Given the description of an element on the screen output the (x, y) to click on. 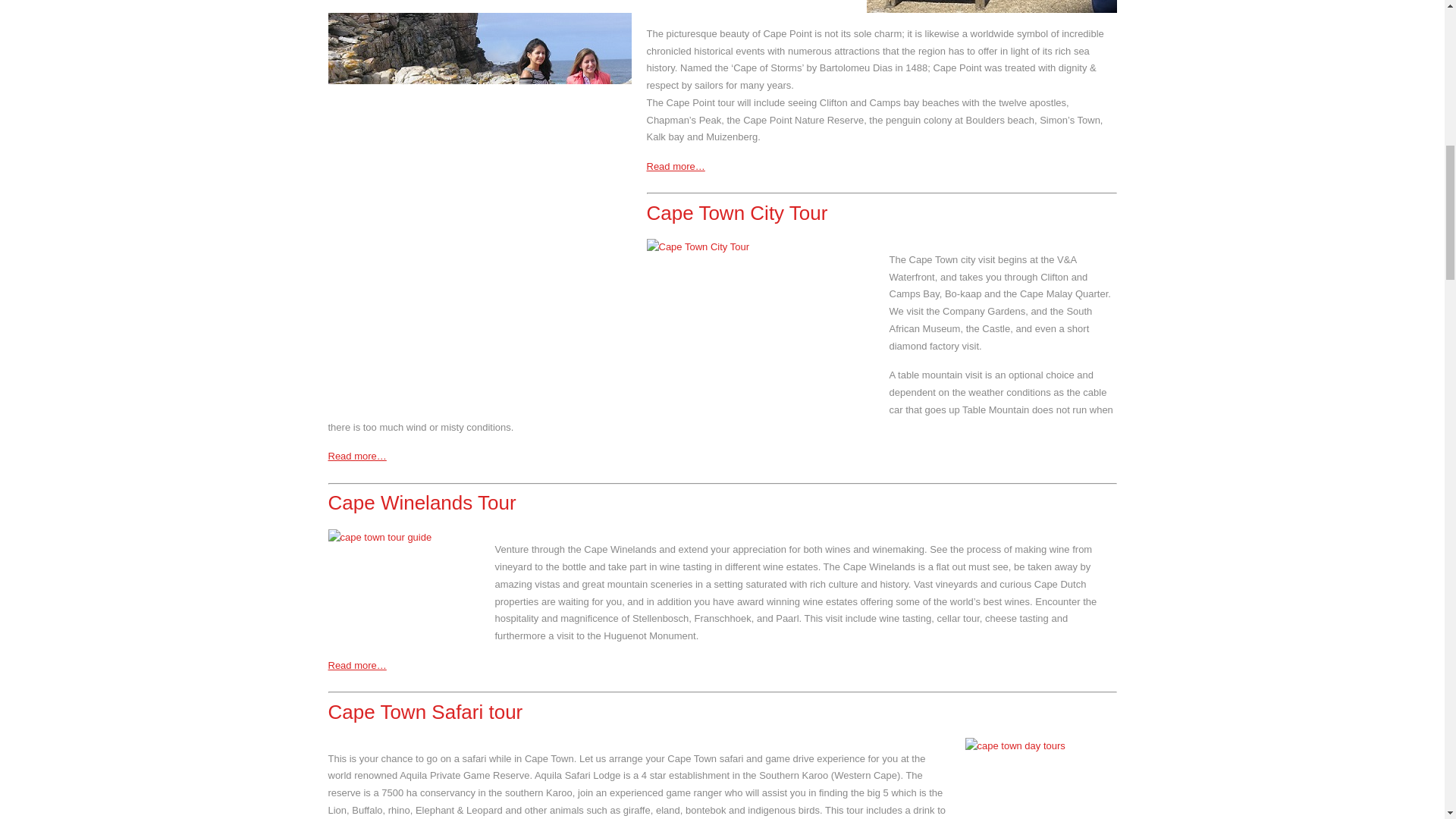
Cape Winelands Tour (421, 502)
Cape Town City Tour (736, 212)
Cape Town Safari tour (424, 712)
